Given the description of an element on the screen output the (x, y) to click on. 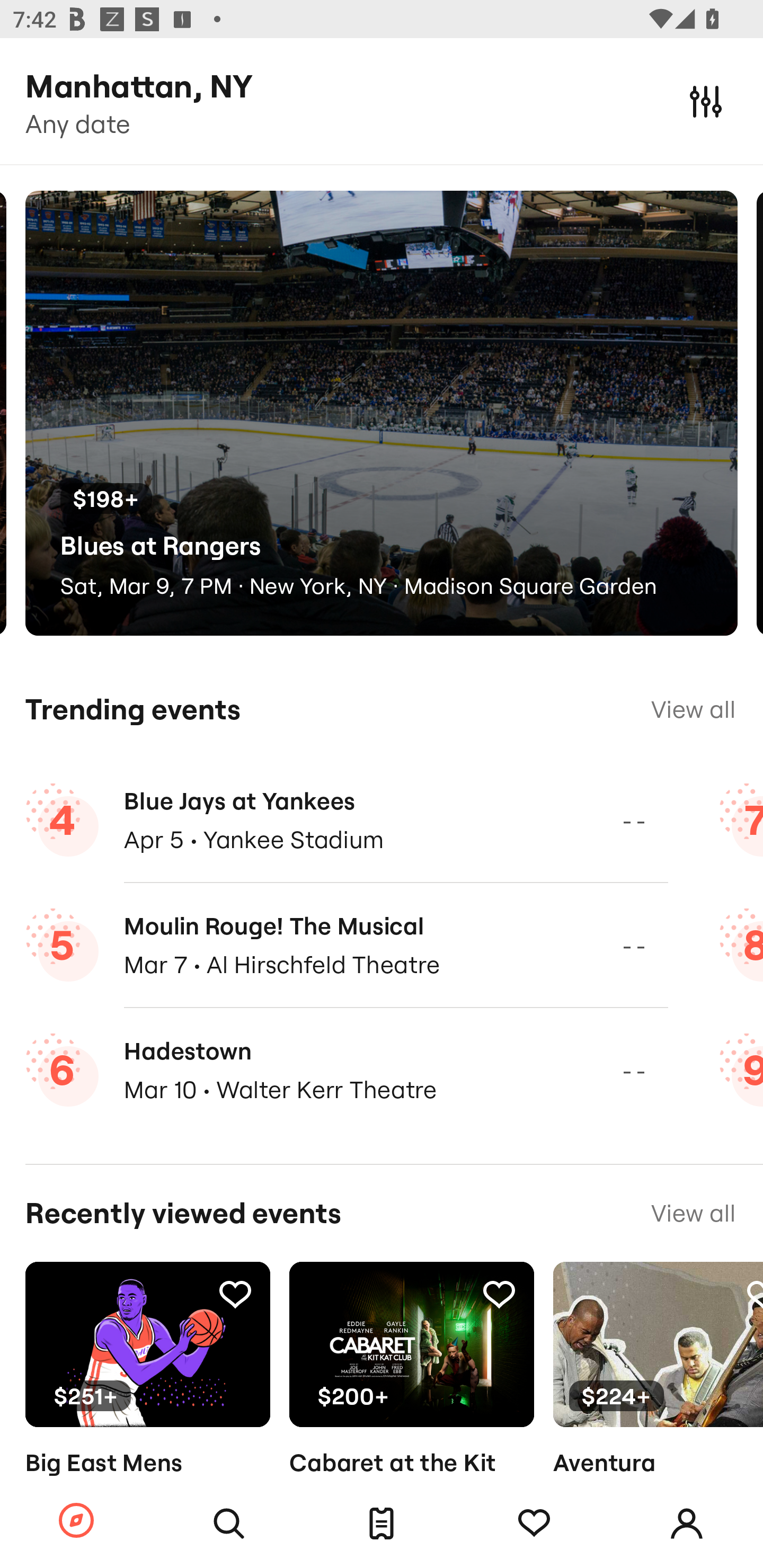
Filters (705, 100)
View all (693, 709)
View all (693, 1213)
Tracking $224+ Aventura Thu, May 30, 8 PM (658, 1399)
Tracking (234, 1293)
Tracking (498, 1293)
Browse (76, 1521)
Search (228, 1523)
Tickets (381, 1523)
Tracking (533, 1523)
Account (686, 1523)
